Given the description of an element on the screen output the (x, y) to click on. 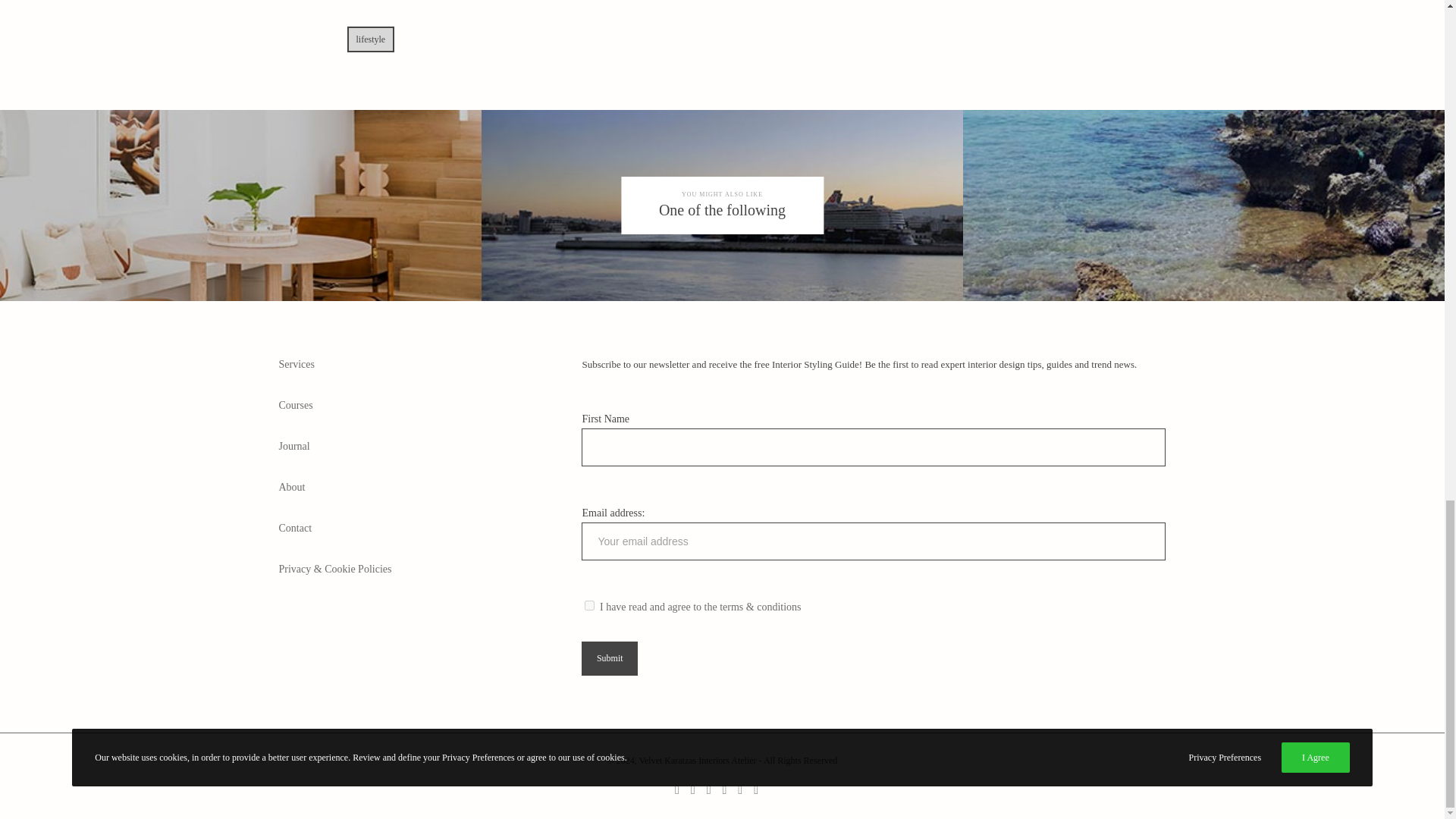
Services (296, 364)
lifestyle (370, 39)
About (292, 487)
1 (589, 605)
Courses (296, 405)
Journal  (296, 446)
Submit (608, 658)
Contact (296, 527)
Submit (608, 658)
